Given the description of an element on the screen output the (x, y) to click on. 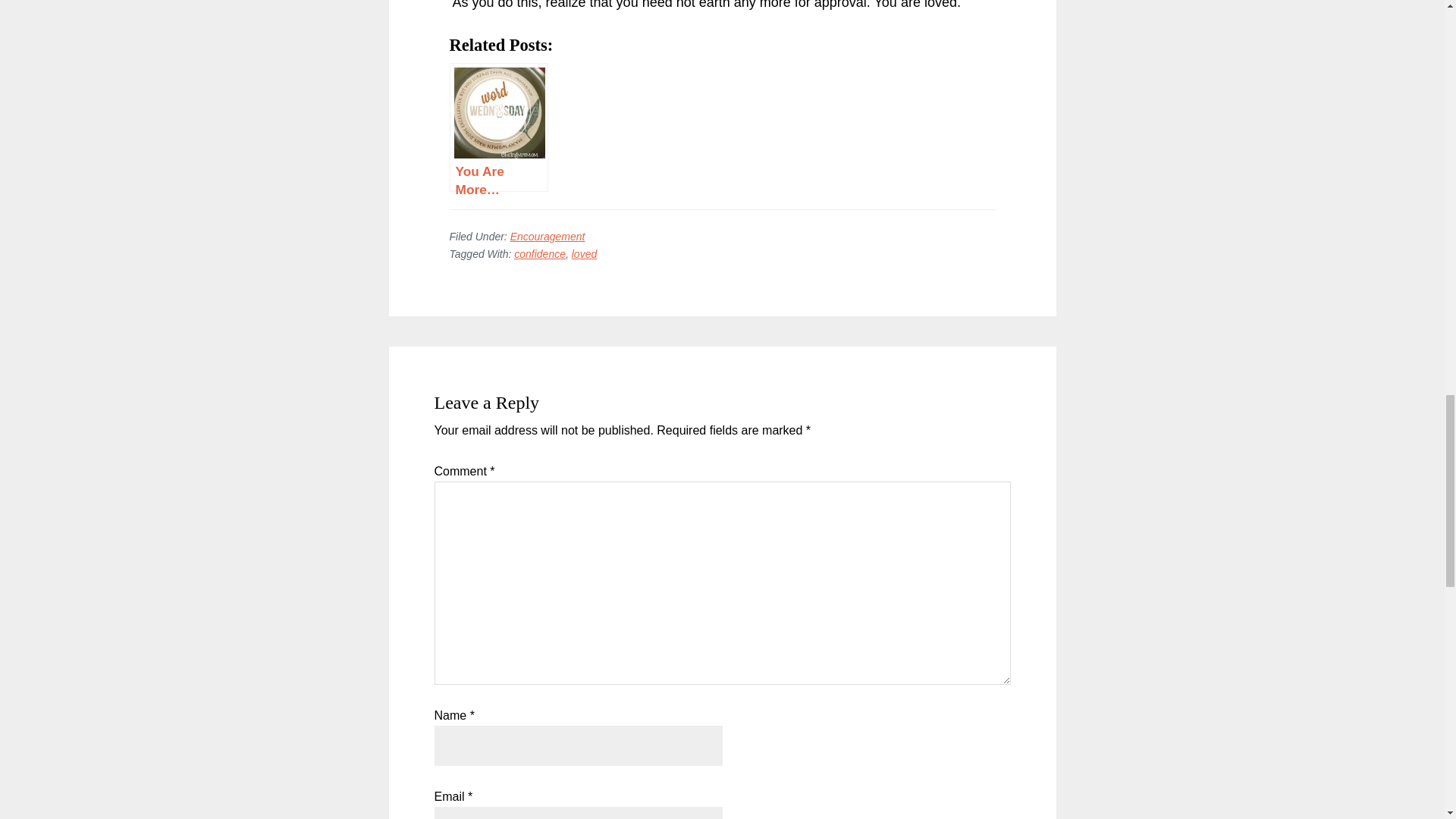
loved (584, 254)
confidence (539, 254)
Encouragement (548, 236)
